Given the description of an element on the screen output the (x, y) to click on. 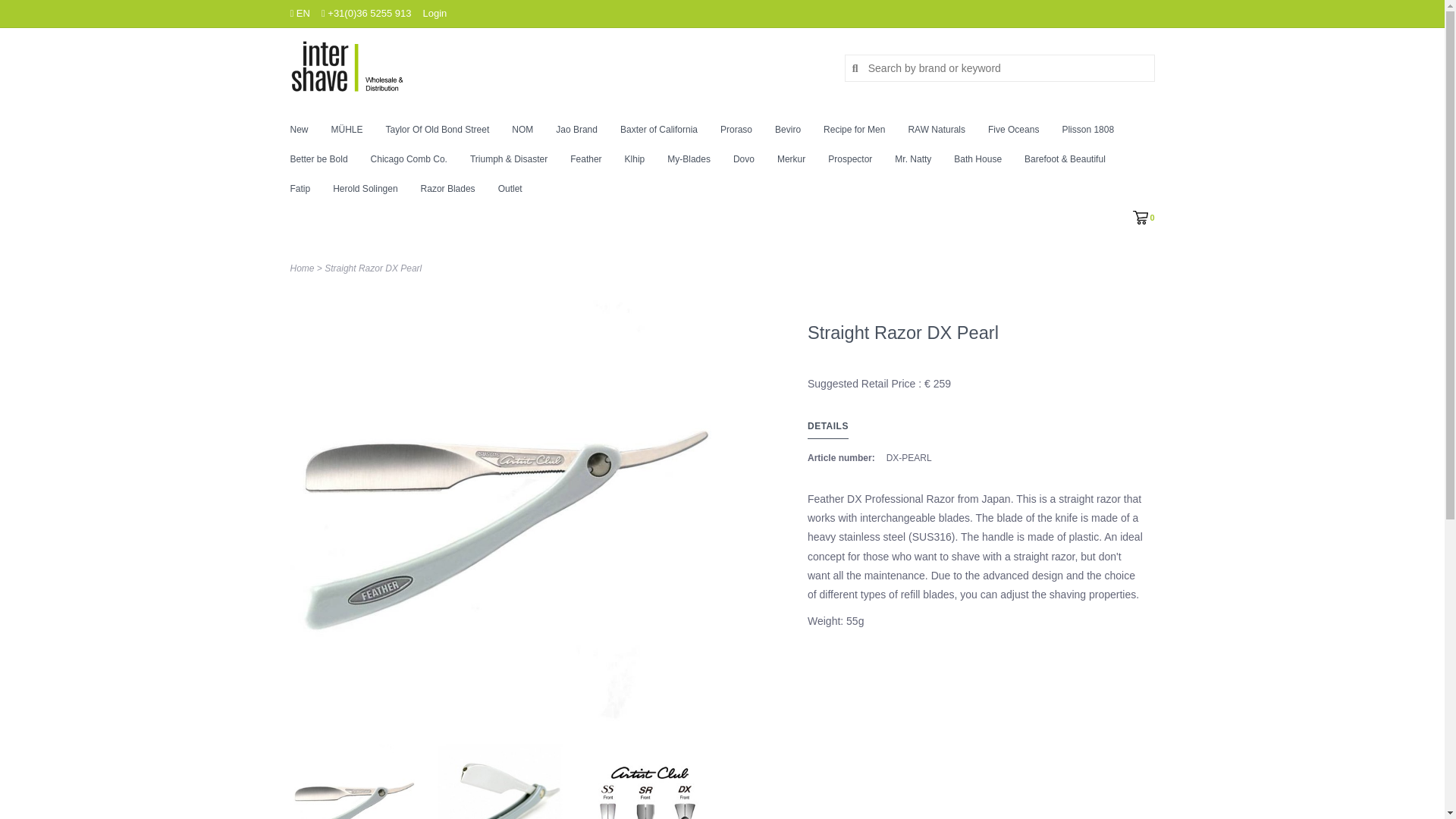
Language (298, 12)
NOM (526, 133)
My account (434, 12)
EN (298, 12)
Taylor Of Old Bond Street (441, 133)
Login (434, 12)
